Given the description of an element on the screen output the (x, y) to click on. 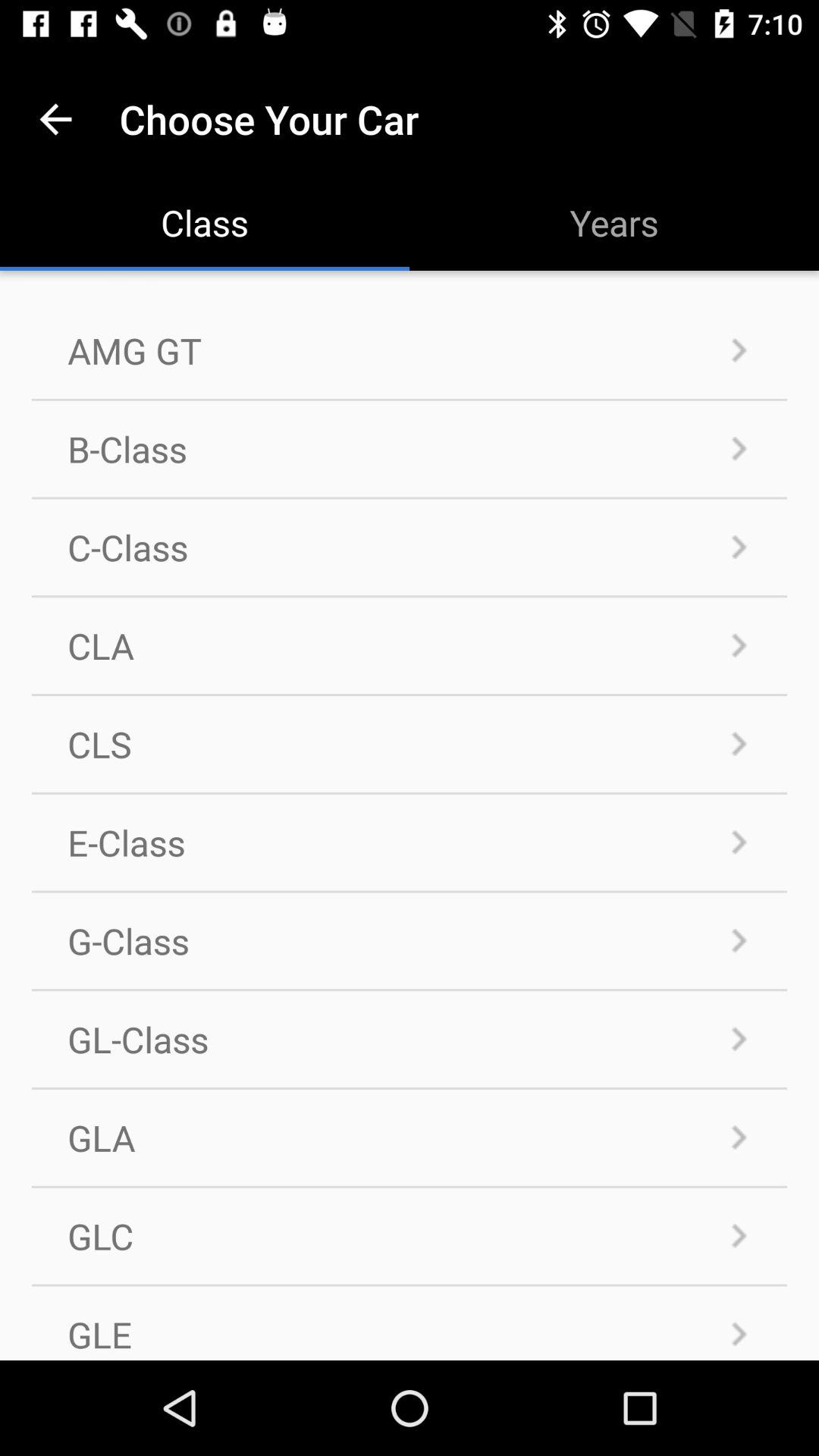
click on the icon which is on the bottom of the  right corner (739, 1333)
click on the right arrow in the cla field (739, 645)
select the next icon which is right to the glc (739, 1235)
